Given the description of an element on the screen output the (x, y) to click on. 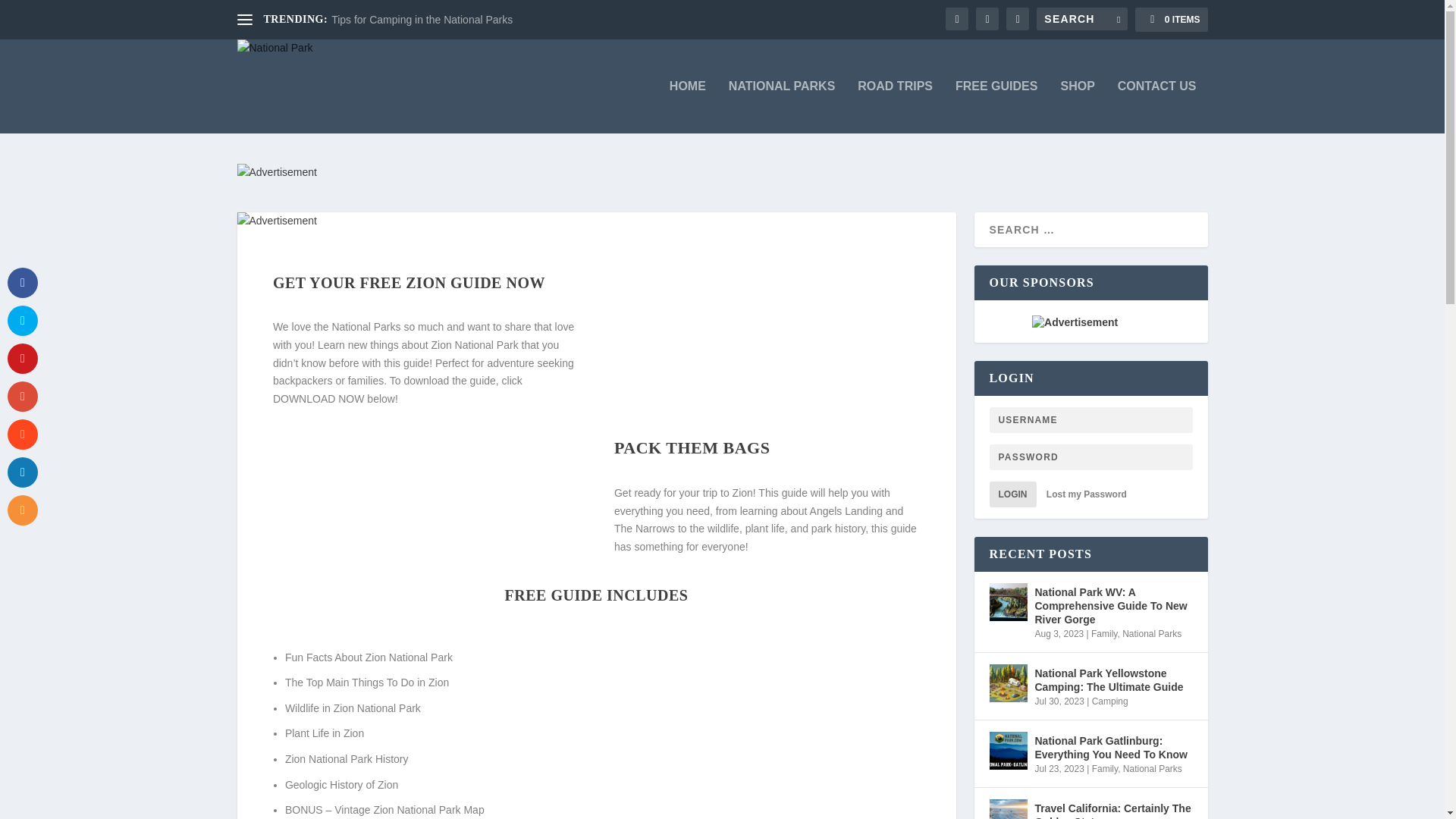
Tips for Camping in the National Parks (421, 19)
NATIONAL PARKS (781, 106)
FREE GUIDES (995, 106)
CONTACT US (1157, 106)
0 ITEMS (1171, 19)
Search for: (1081, 18)
0 Items in Cart (1171, 19)
ROAD TRIPS (895, 106)
